Given the description of an element on the screen output the (x, y) to click on. 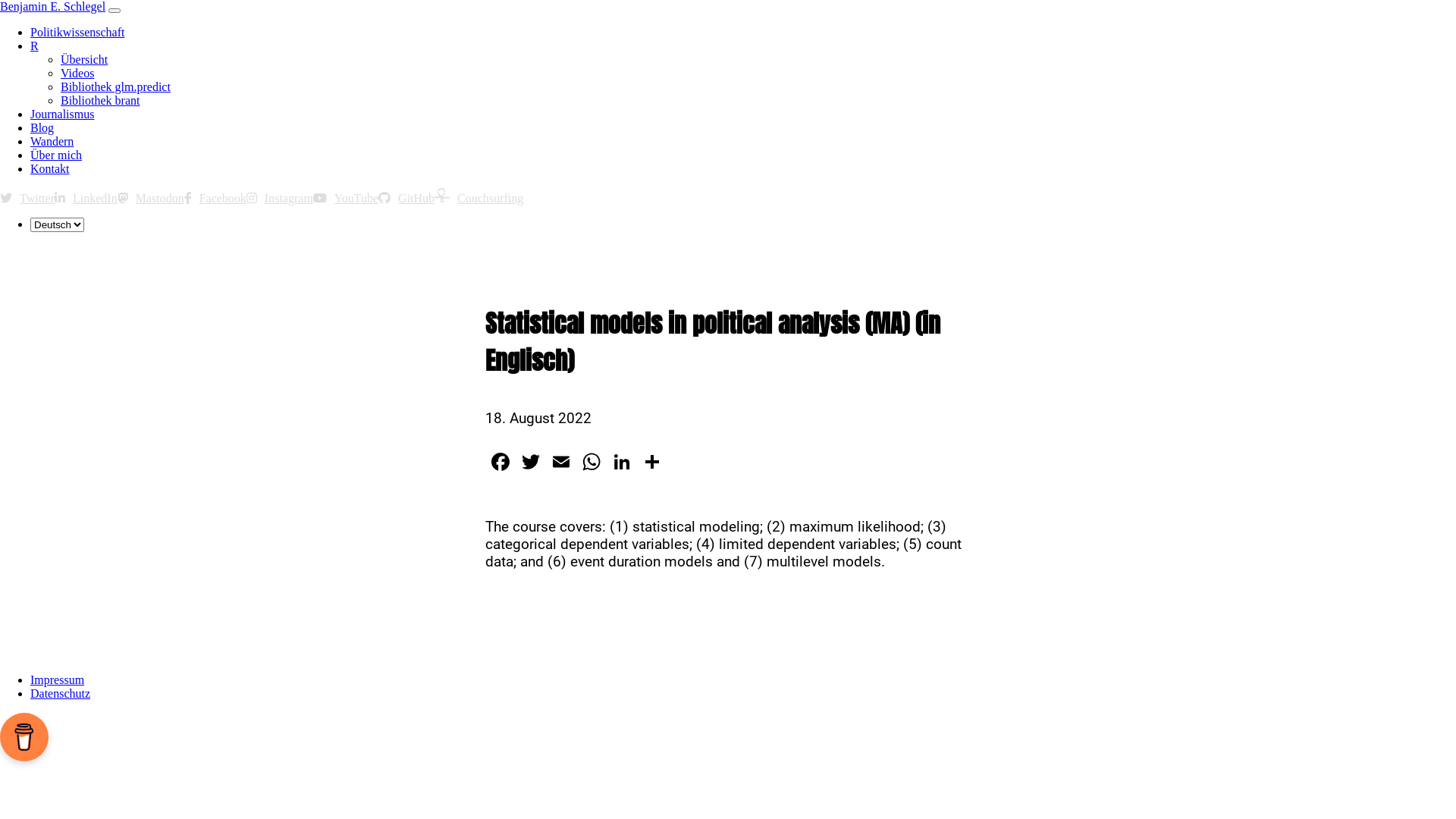
Politikwissenschaft Element type: text (77, 31)
GitHub Element type: text (406, 197)
Twitter Element type: text (27, 197)
Bibliothek brant Element type: text (99, 100)
Benjamin E. Schlegel Element type: text (52, 6)
Instagram Element type: text (279, 197)
Impressum Element type: text (57, 679)
Videos Element type: text (77, 72)
Couchsurfing Element type: text (478, 197)
YouTube Element type: text (345, 197)
Twitter Element type: text (530, 463)
LinkedIn Element type: text (85, 197)
Blog Element type: text (41, 127)
Mastodon Element type: text (150, 197)
LinkedIn Element type: text (621, 463)
Wandern Element type: text (51, 140)
Kontakt Element type: text (49, 168)
Bibliothek glm.predict Element type: text (115, 86)
Email Element type: text (561, 463)
R Element type: text (34, 45)
Facebook Element type: text (500, 463)
Share Element type: text (652, 463)
Datenschutz Element type: text (60, 693)
Facebook Element type: text (215, 197)
WhatsApp Element type: text (591, 463)
Journalismus Element type: text (62, 113)
